Given the description of an element on the screen output the (x, y) to click on. 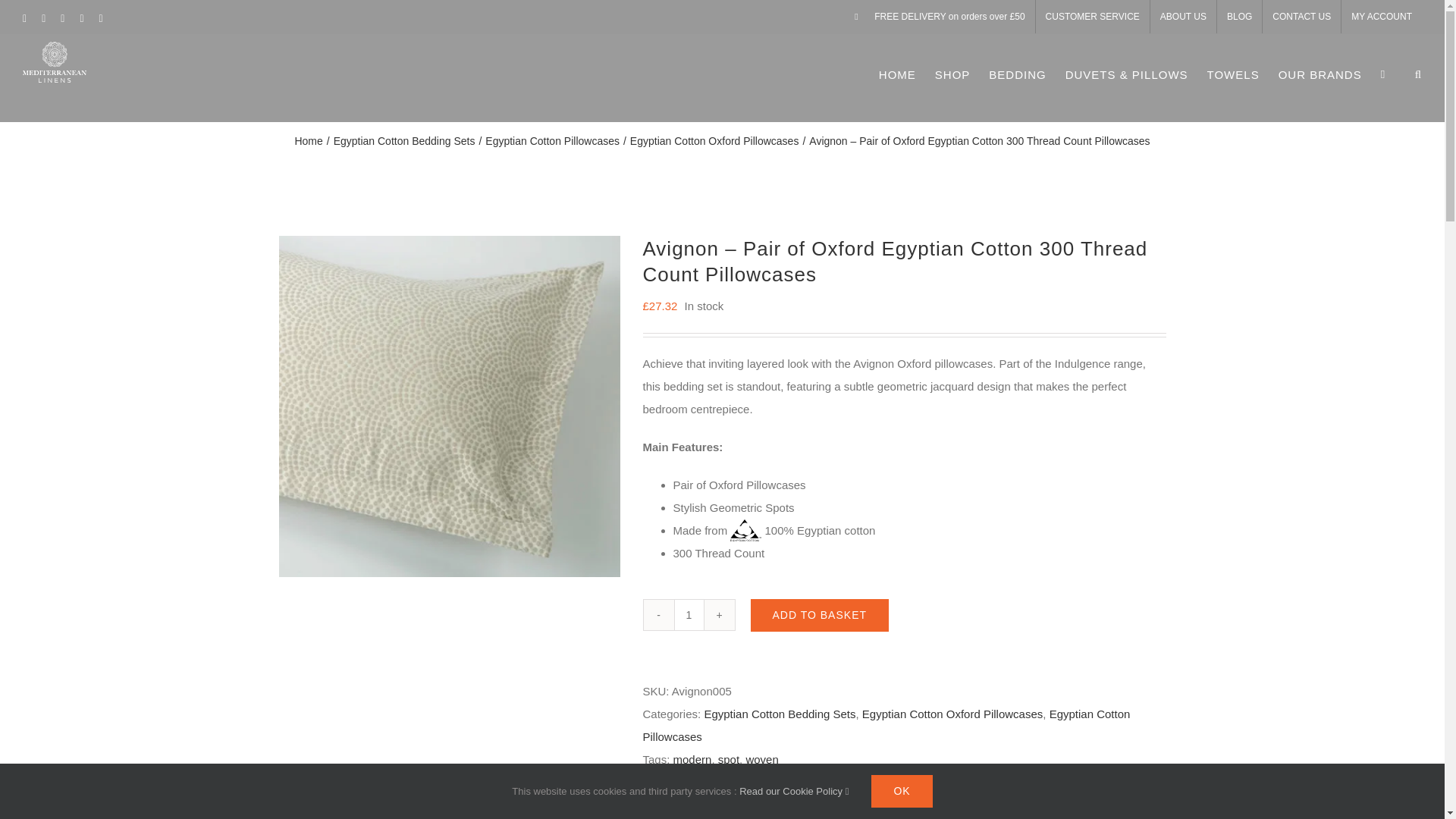
MY ACCOUNT (1381, 16)
ABOUT US (1182, 16)
1 (687, 614)
Avignon Oxford Pillowcase (449, 406)
CUSTOMER SERVICE (1092, 16)
CONTACT US (1301, 16)
- (657, 614)
BLOG (1239, 16)
